Given the description of an element on the screen output the (x, y) to click on. 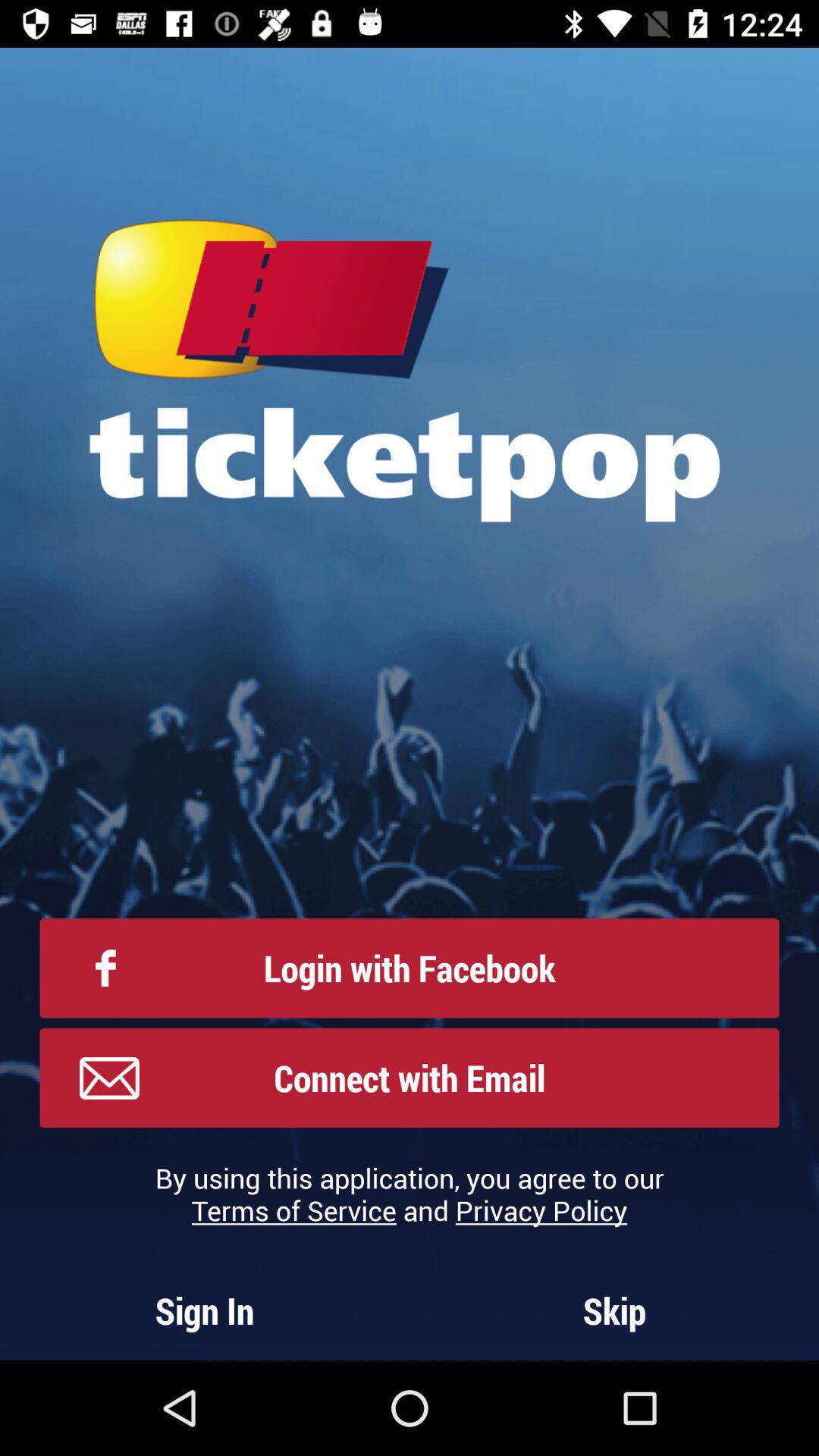
scroll to sign in item (204, 1310)
